Given the description of an element on the screen output the (x, y) to click on. 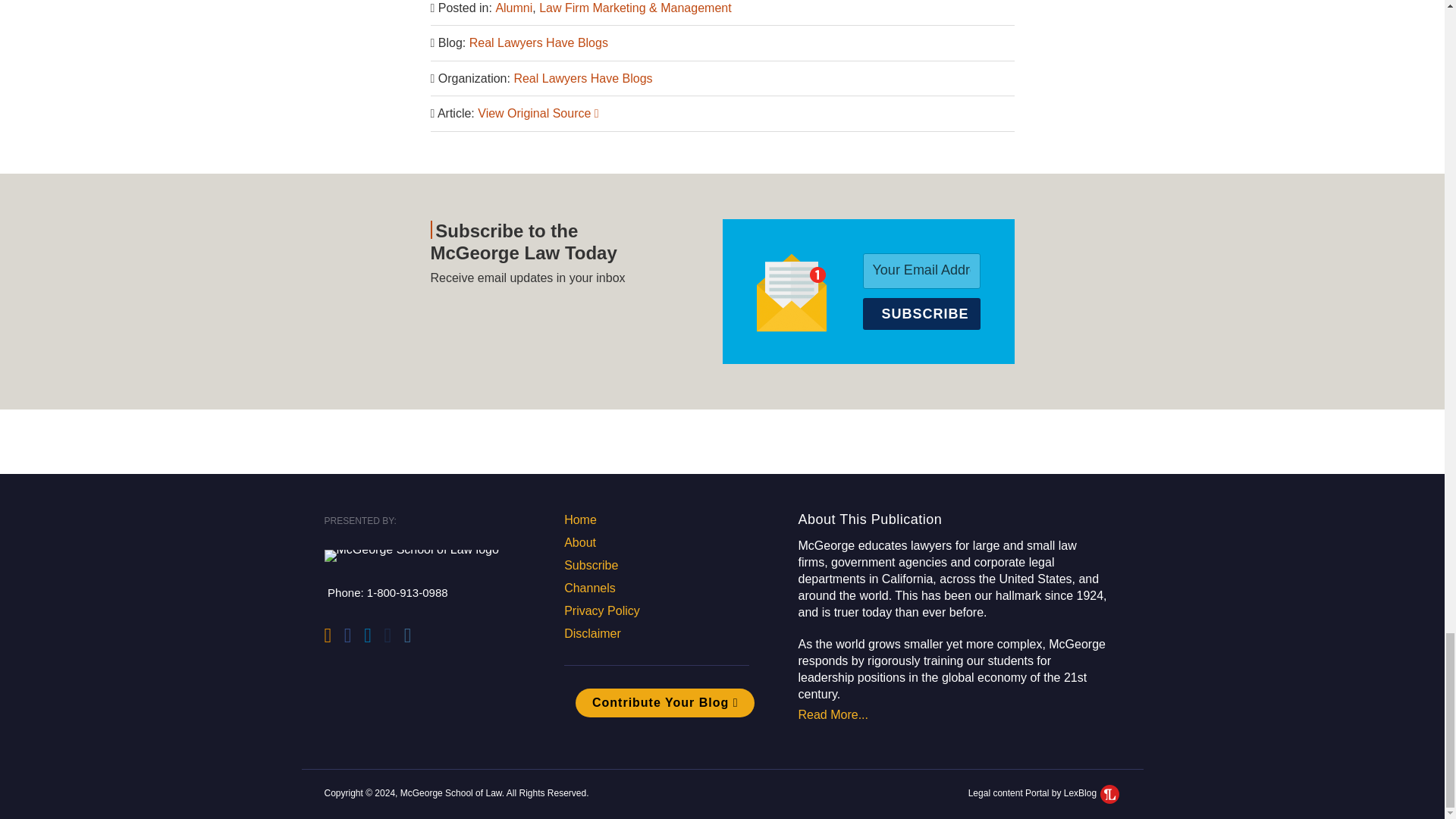
Subscribe (590, 564)
LexBlog Logo (1109, 793)
SUBSCRIBE (921, 314)
Real Lawyers Have Blogs (582, 78)
Home (580, 519)
About (579, 542)
1-800-913-0988 (407, 592)
Real Lawyers Have Blogs (538, 42)
Alumni (513, 7)
View Original Source (537, 113)
SUBSCRIBE (921, 314)
